Given the description of an element on the screen output the (x, y) to click on. 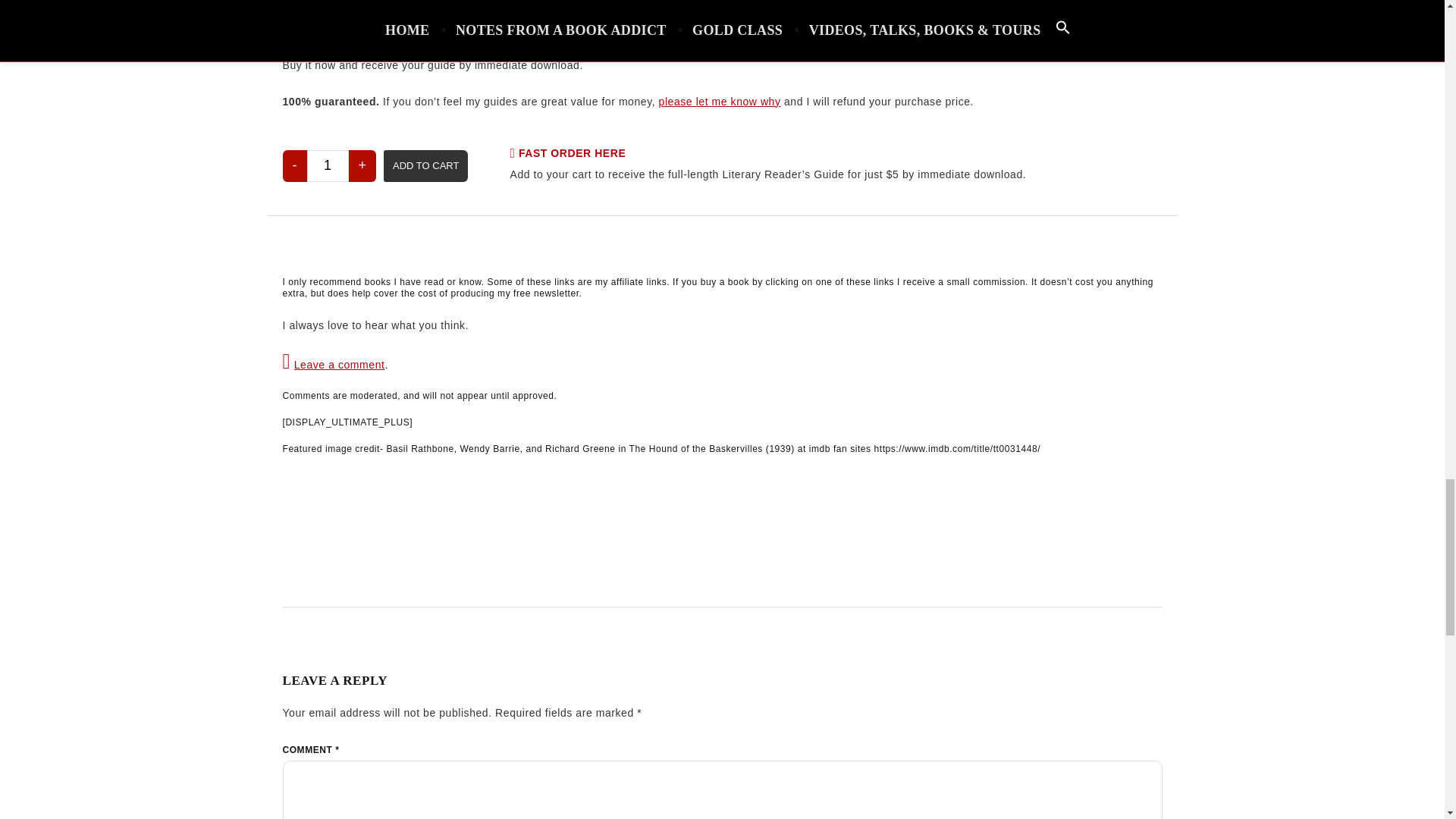
ADD TO CART (425, 165)
1 (326, 165)
